Given the description of an element on the screen output the (x, y) to click on. 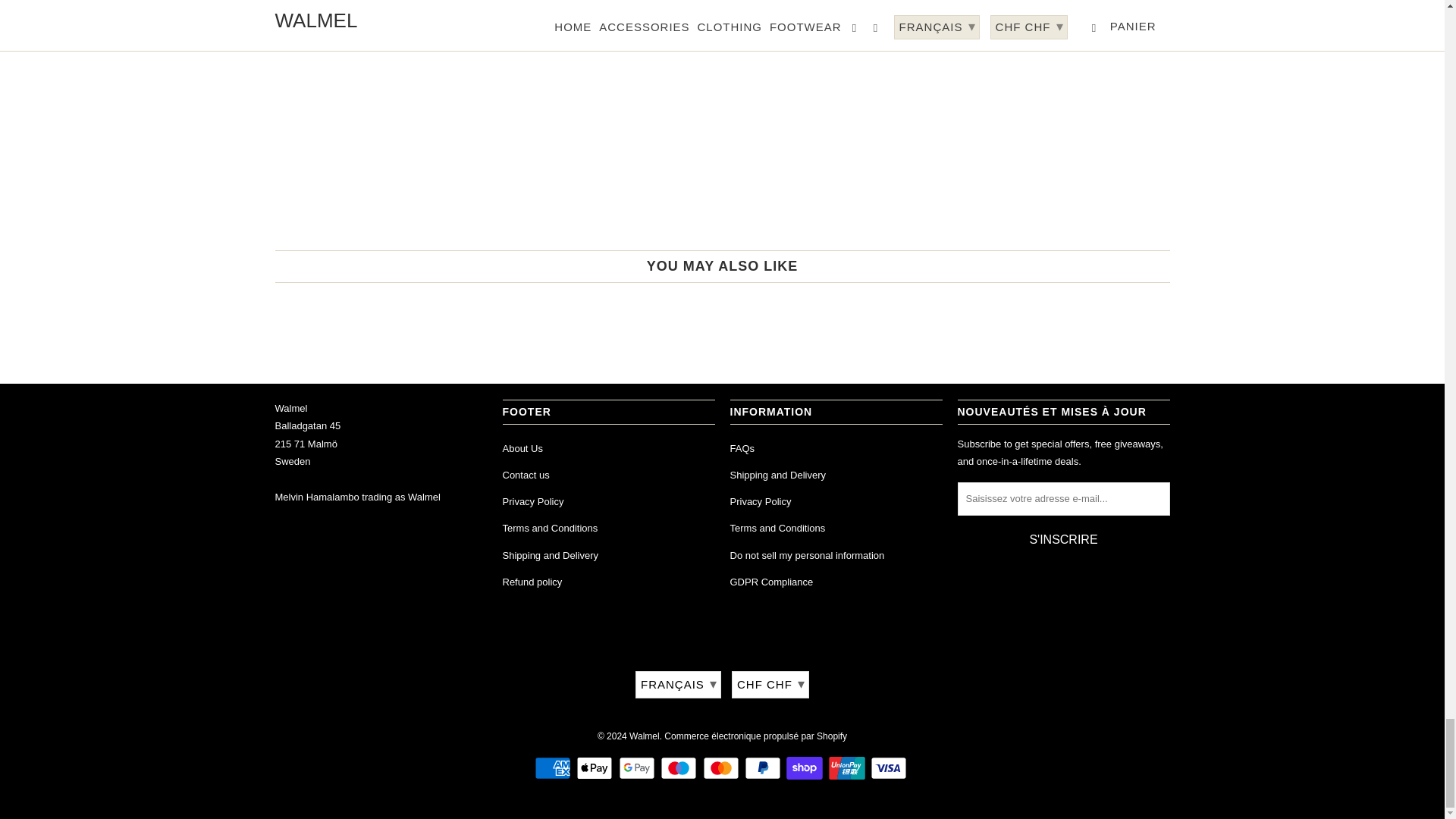
Google Pay (638, 767)
PayPal (764, 767)
Maestro (680, 767)
Shop Pay (805, 767)
Mastercard (721, 767)
American Express (553, 767)
Visa (890, 767)
Apple Pay (595, 767)
S'inscrire (1062, 539)
Union Pay (847, 767)
